Given the description of an element on the screen output the (x, y) to click on. 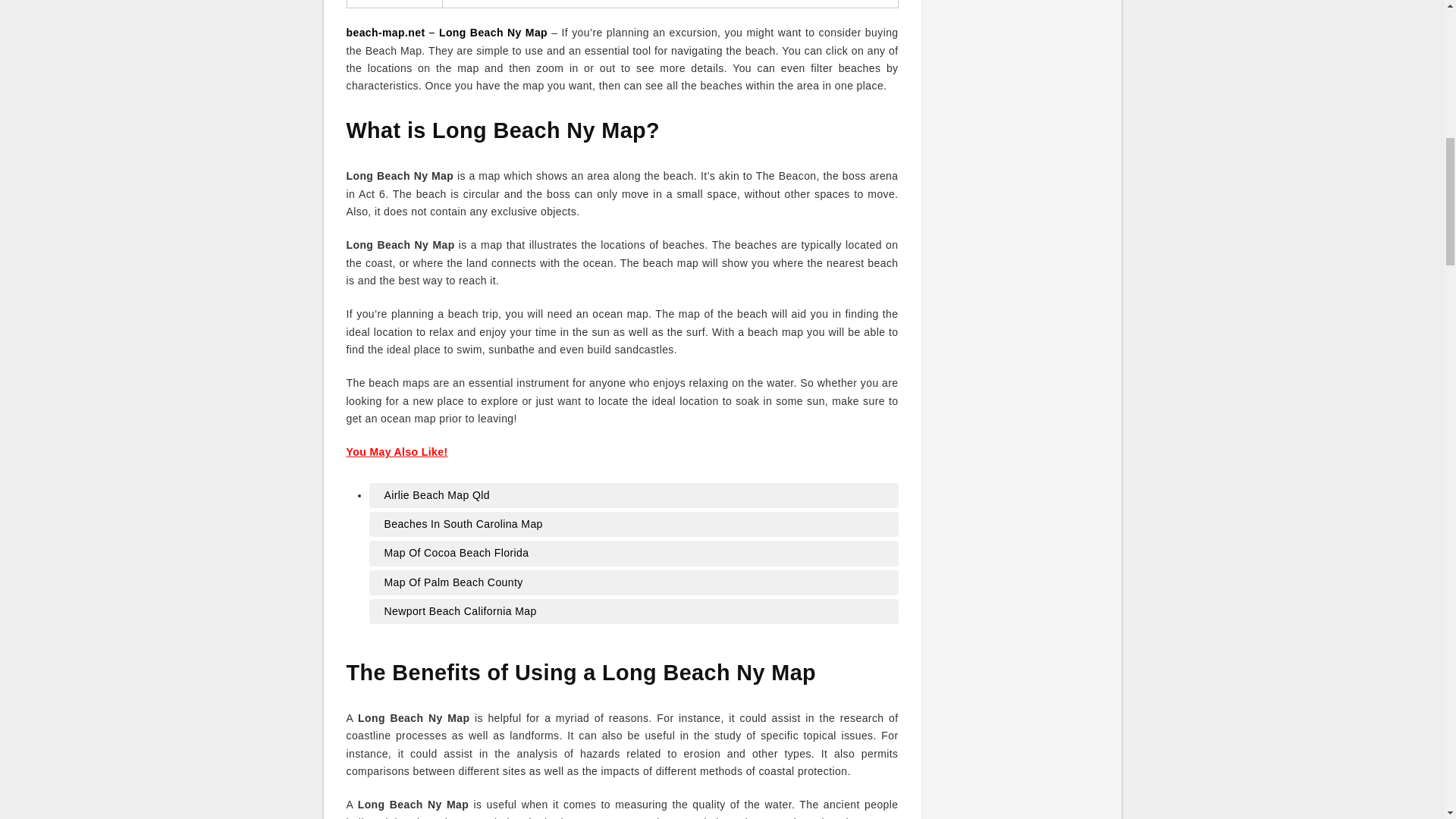
Map Of Cocoa Beach Florida (632, 552)
beach-map.net (385, 32)
Beaches In South Carolina Map (632, 524)
Airlie Beach Map Qld (632, 495)
Long Beach Ny Map (493, 32)
Map Of Palm Beach County (632, 582)
Newport Beach California Map (632, 611)
